Given the description of an element on the screen output the (x, y) to click on. 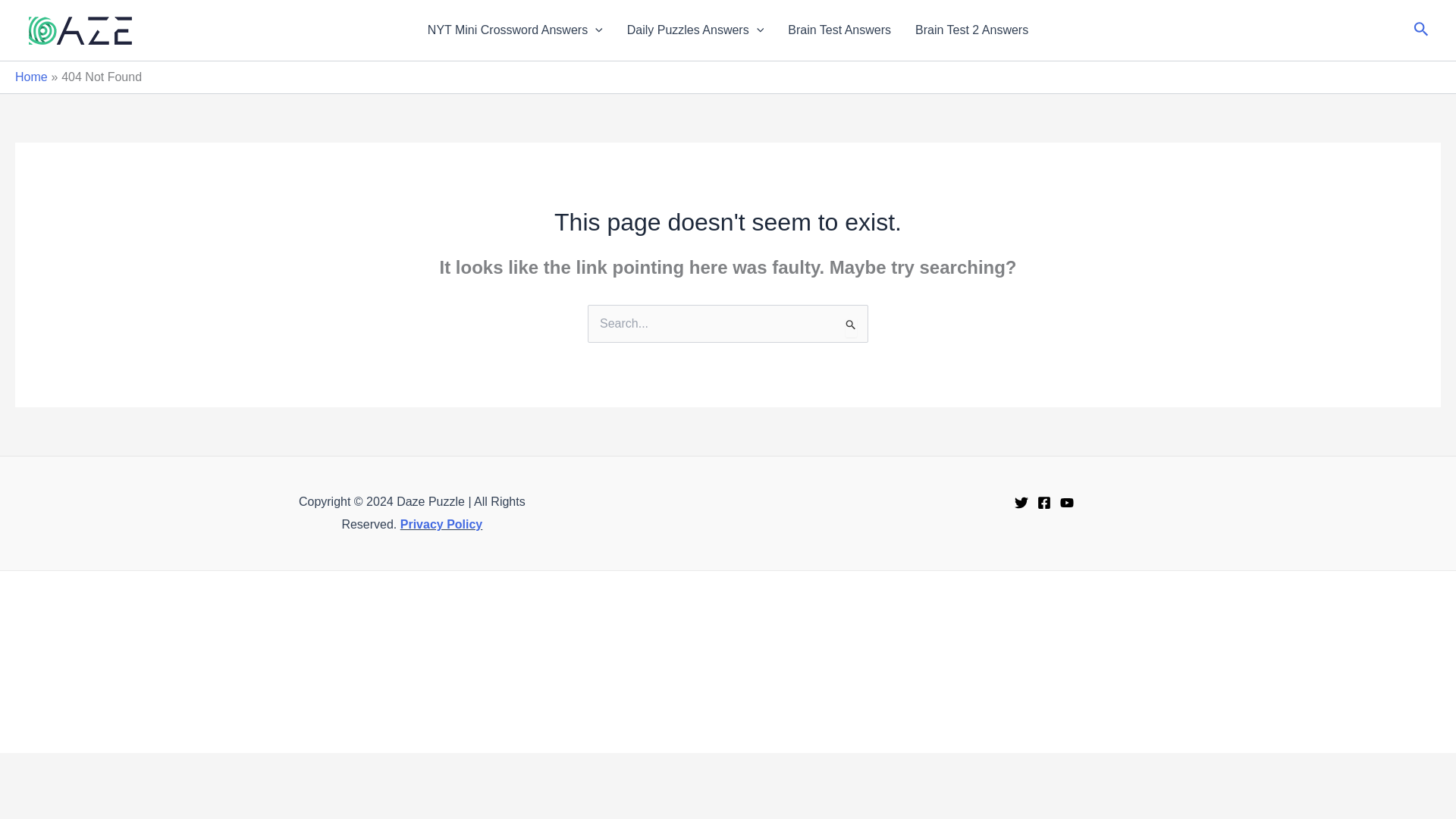
Brain Test Answers (839, 30)
NYT Mini Crossword Answers (514, 30)
Daily Puzzles Answers (695, 30)
Brain Test 2 Answers (971, 30)
